Given the description of an element on the screen output the (x, y) to click on. 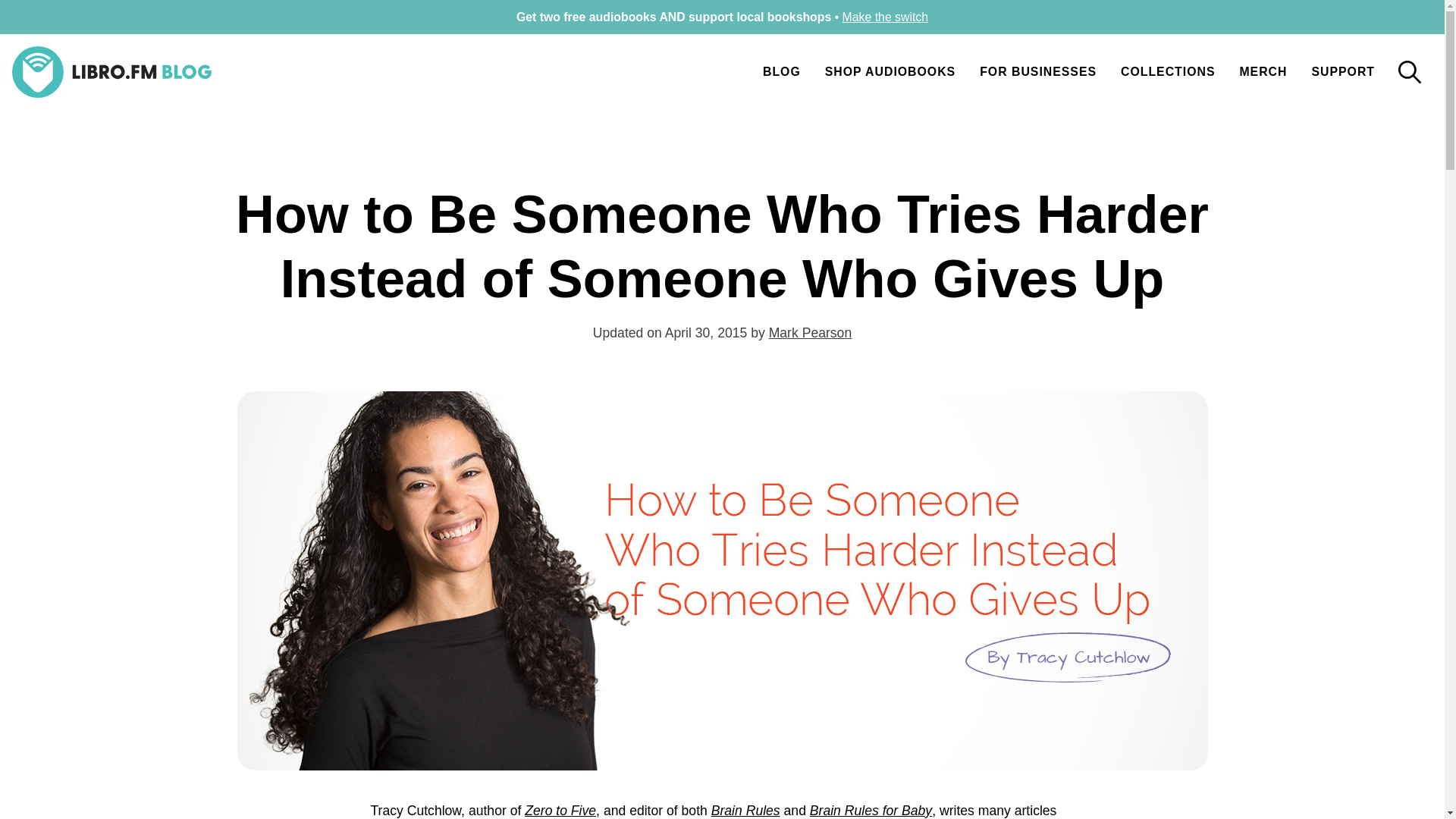
MERCH (1262, 71)
Brain Rules for Baby (870, 810)
COLLECTIONS (1167, 71)
SHOP AUDIOBOOKS (890, 71)
Make the switch (885, 16)
SUPPORT (1342, 71)
Mark Pearson (809, 332)
Zero to Five (559, 810)
FOR BUSINESSES (1038, 71)
Brain Rules (745, 810)
